Given the description of an element on the screen output the (x, y) to click on. 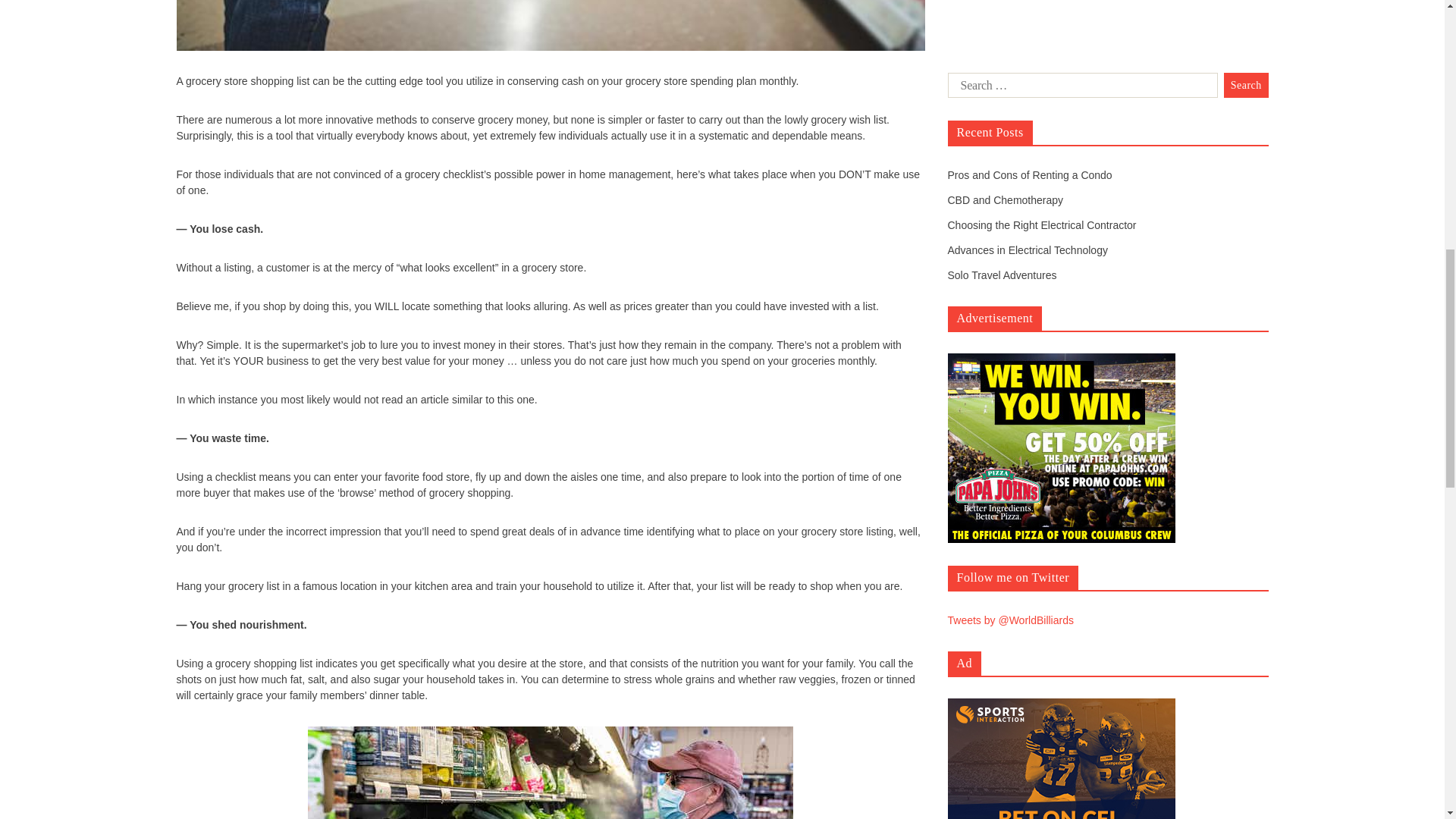
Organized Sports (988, 286)
Sportsmanship (982, 327)
Sports Fitness (980, 306)
Exercise (967, 245)
General (966, 265)
